Given the description of an element on the screen output the (x, y) to click on. 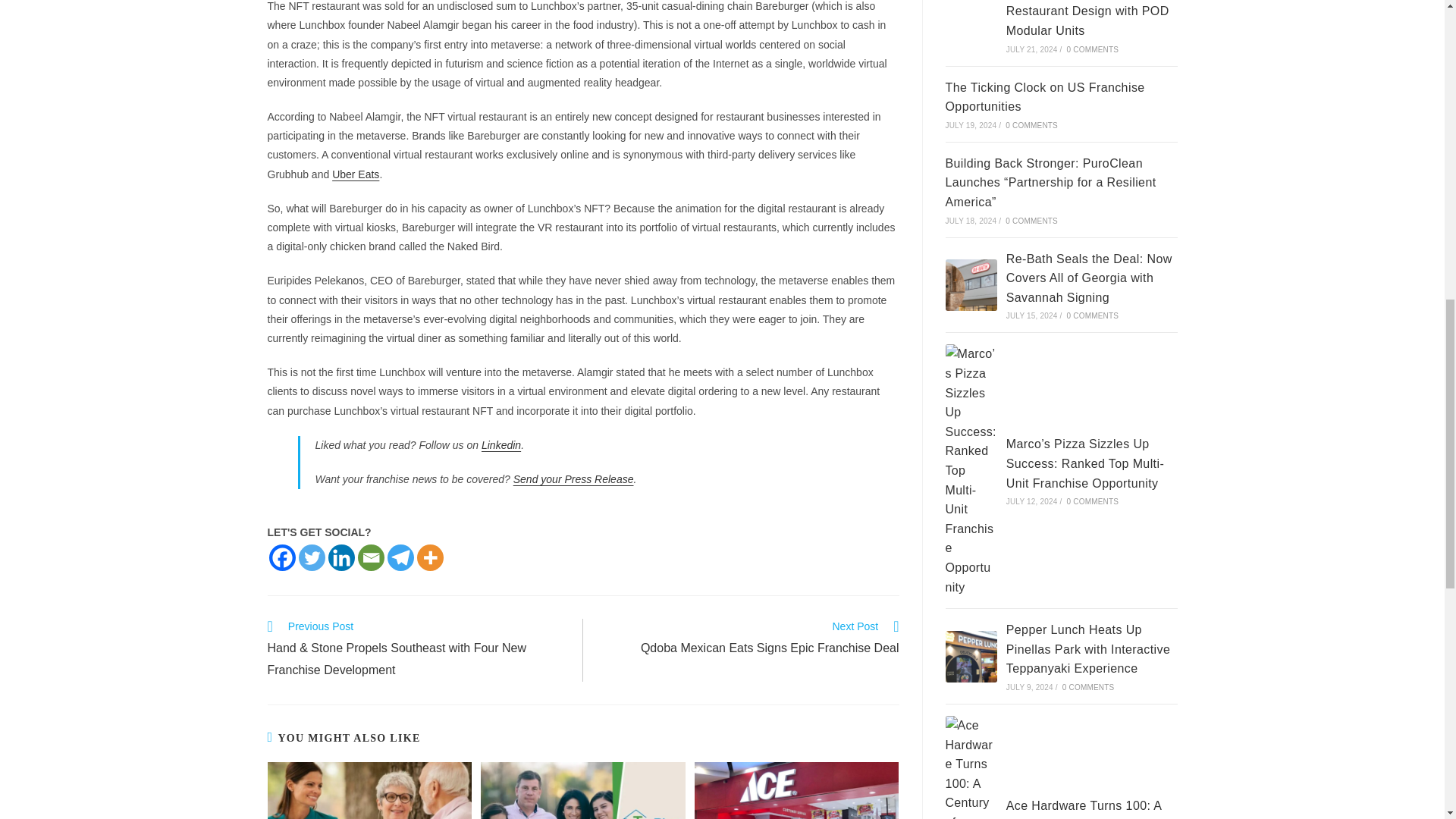
Twitter (748, 639)
More (311, 557)
Send your Press Release (430, 557)
Facebook (573, 479)
Telegram (281, 557)
Linkedin (400, 557)
Uber Eats (340, 557)
Linkedin (354, 174)
Email (501, 444)
